Given the description of an element on the screen output the (x, y) to click on. 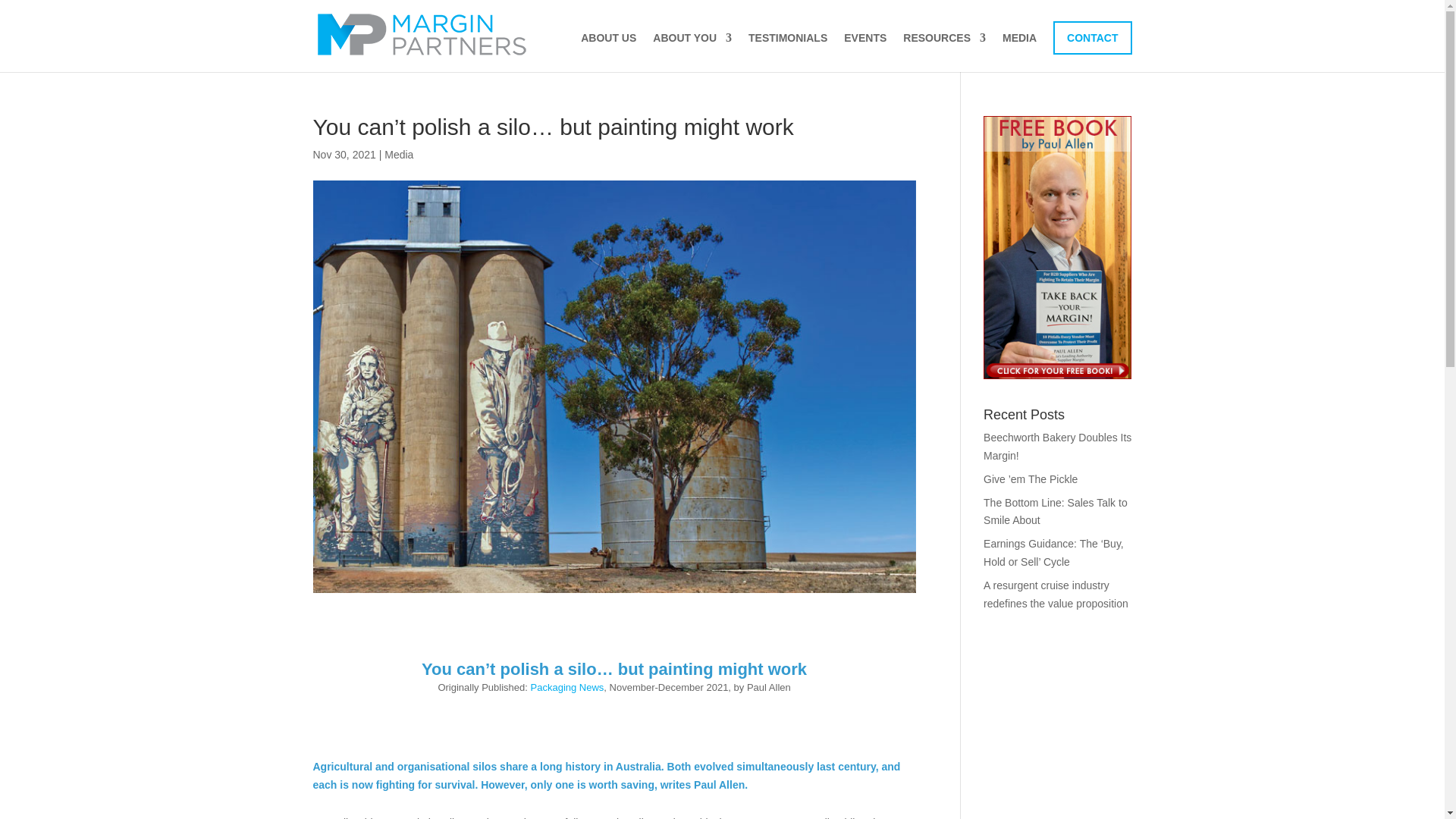
A resurgent cruise industry redefines the value proposition (1056, 594)
CONTACT (1091, 37)
EVENTS (865, 52)
TESTIMONIALS (787, 52)
Packaging News (567, 686)
ABOUT US (608, 52)
ABOUT YOU (692, 52)
RESOURCES (943, 52)
Beechworth Bakery Doubles Its Margin! (1057, 446)
Media (398, 154)
The Bottom Line: Sales Talk to Smile About (1055, 511)
